Given the description of an element on the screen output the (x, y) to click on. 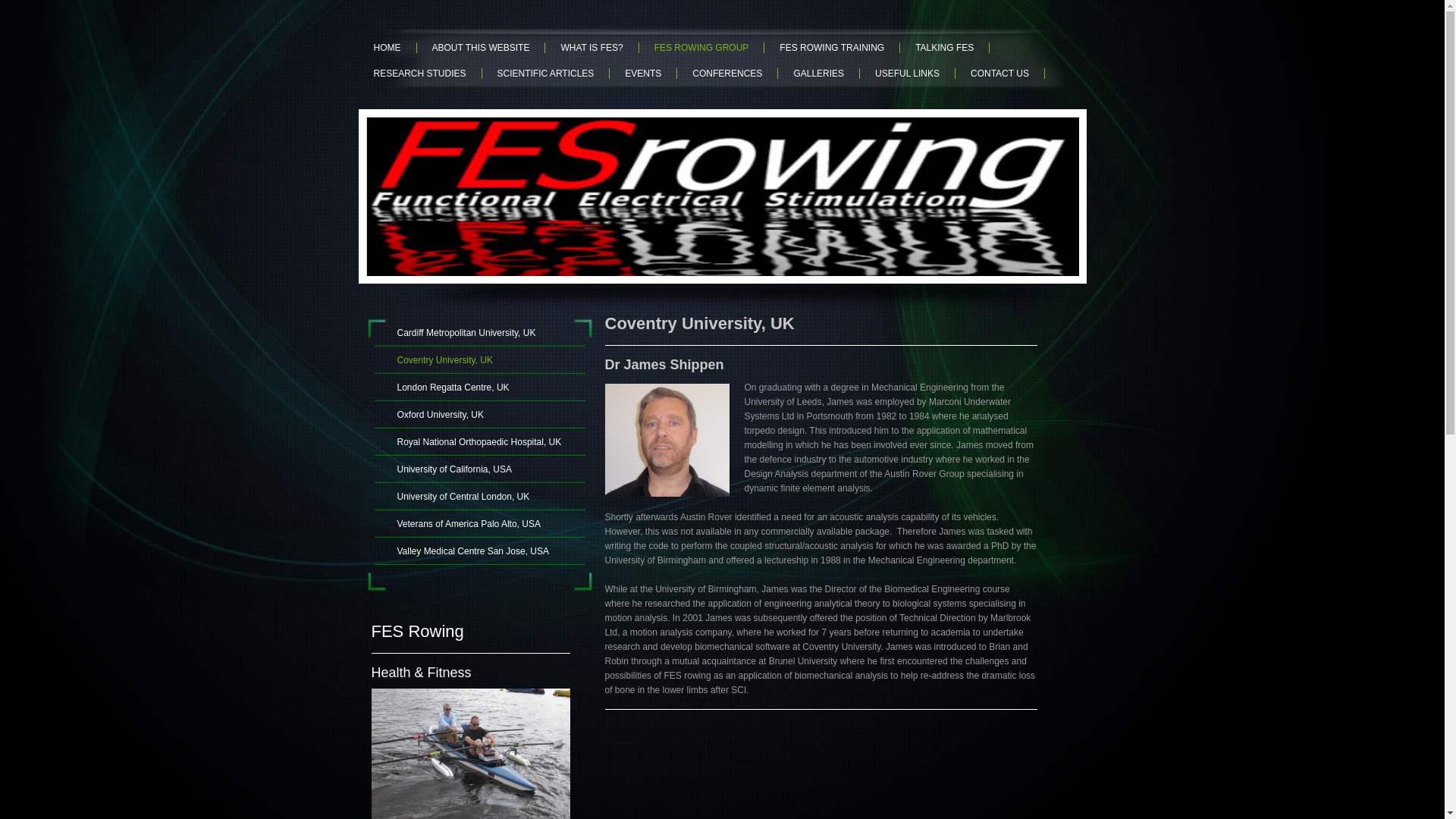
CONTACT US (1000, 72)
EVENTS (643, 72)
Valley Medical Centre San Jose, USA (479, 551)
WHAT IS FES? (591, 47)
TALKING FES (944, 47)
Coventry University, UK (479, 359)
USEFUL LINKS (907, 72)
University of Central London, UK (479, 496)
Oxford University, UK (479, 414)
University of California, USA (479, 469)
GALLERIES (818, 72)
FES ROWING TRAINING (831, 47)
RESEARCH STUDIES (419, 72)
CONFERENCES (727, 72)
SCIENTIFIC ARTICLES (545, 72)
